Given the description of an element on the screen output the (x, y) to click on. 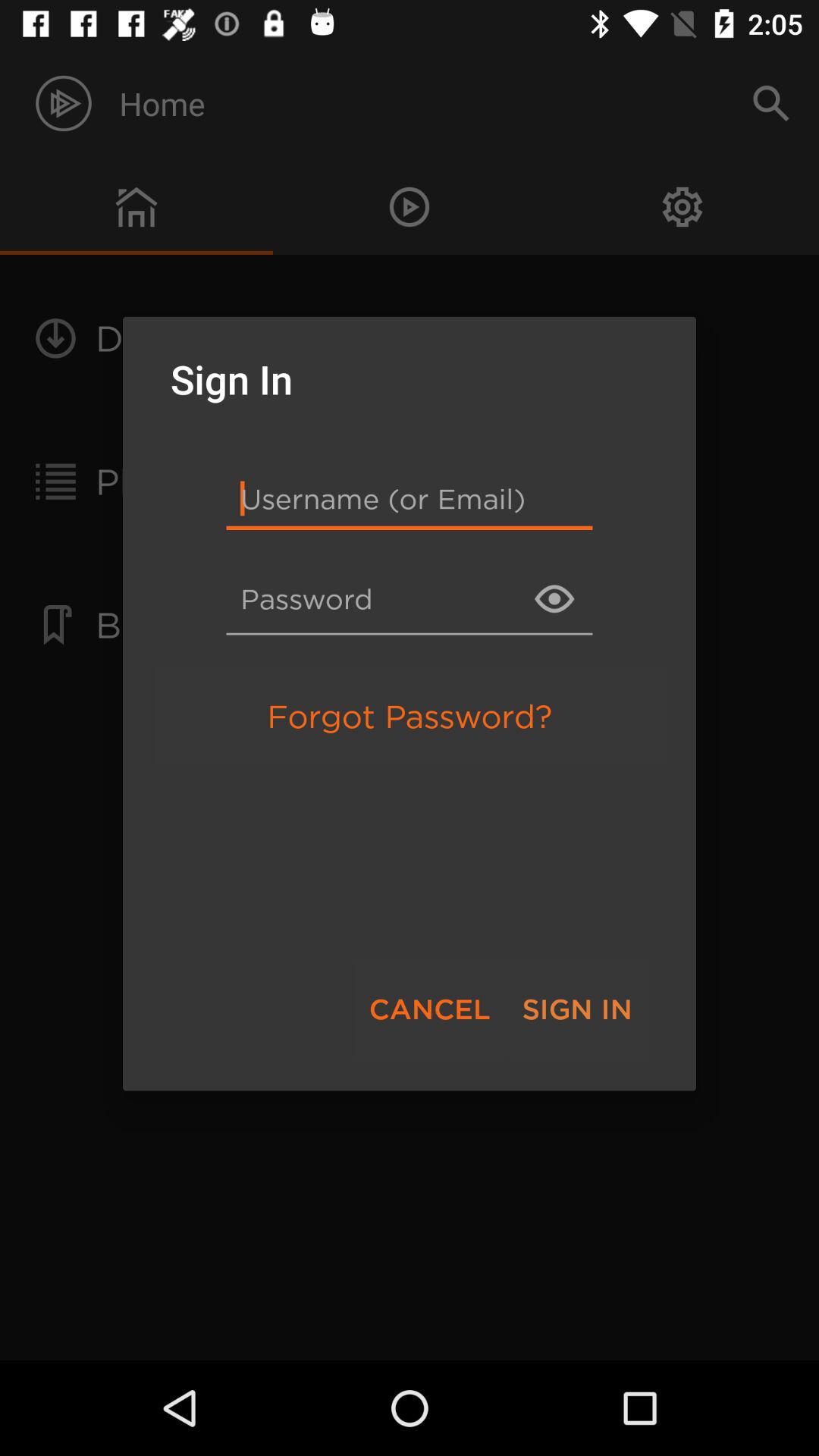
turn off item below the sign in (409, 498)
